Given the description of an element on the screen output the (x, y) to click on. 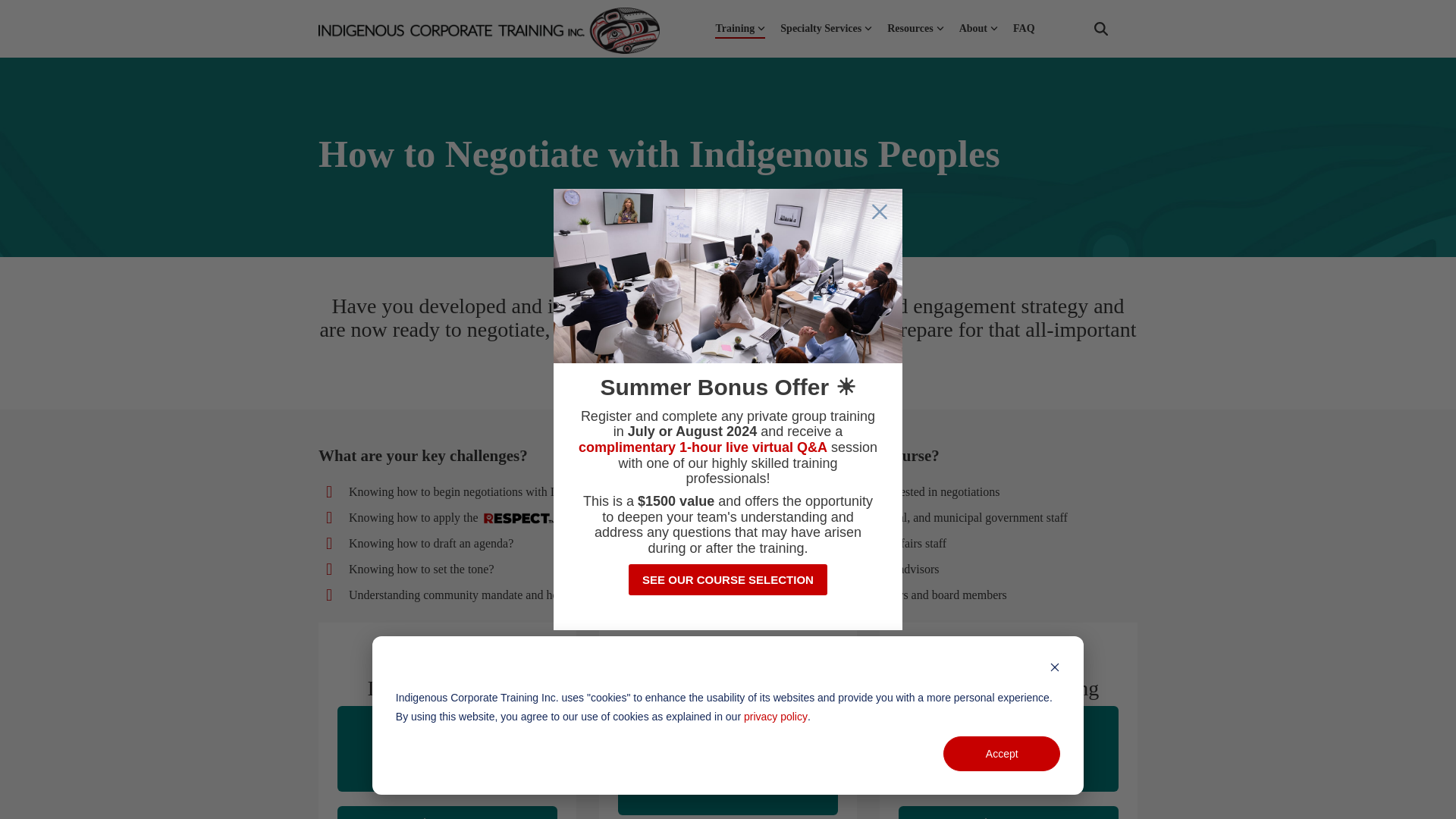
Indigenous Corporate Training inc. logo (488, 30)
About (978, 28)
Specialty Services (826, 28)
Resources (914, 28)
Training (739, 28)
